Given the description of an element on the screen output the (x, y) to click on. 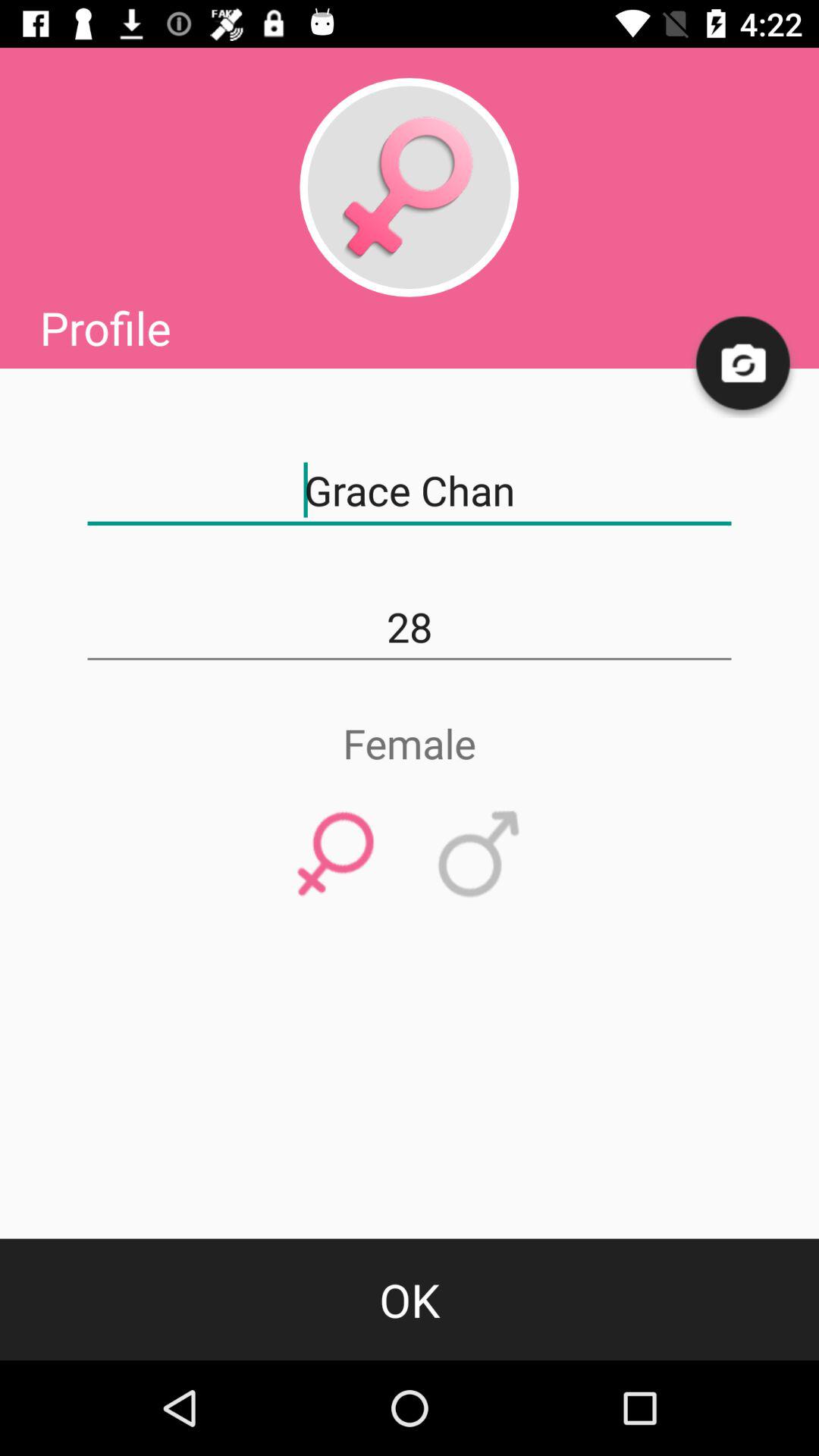
turn on the icon above the ok item (335, 854)
